Given the description of an element on the screen output the (x, y) to click on. 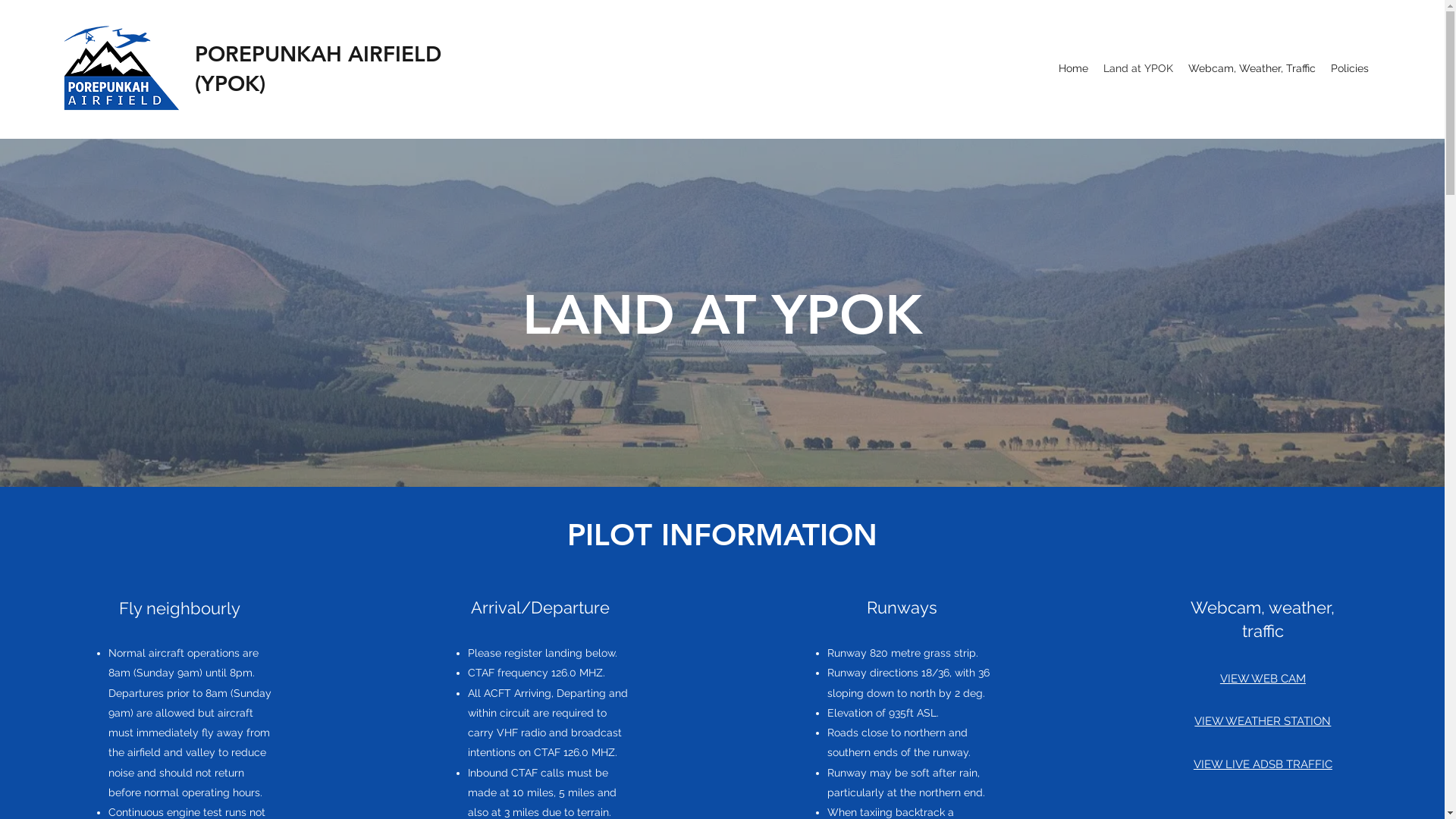
VIEW WEB CAM Element type: text (1262, 678)
Policies Element type: text (1349, 67)
POREPUNKAH AIRFIELD (YPOK) Element type: text (317, 68)
VIEW LIVE ADSB TRAFFIC Element type: text (1262, 764)
Webcam, Weather, Traffic Element type: text (1251, 67)
Home Element type: text (1073, 67)
VIEW WEATHER STATION Element type: text (1262, 721)
Land at YPOK Element type: text (1137, 67)
